Given the description of an element on the screen output the (x, y) to click on. 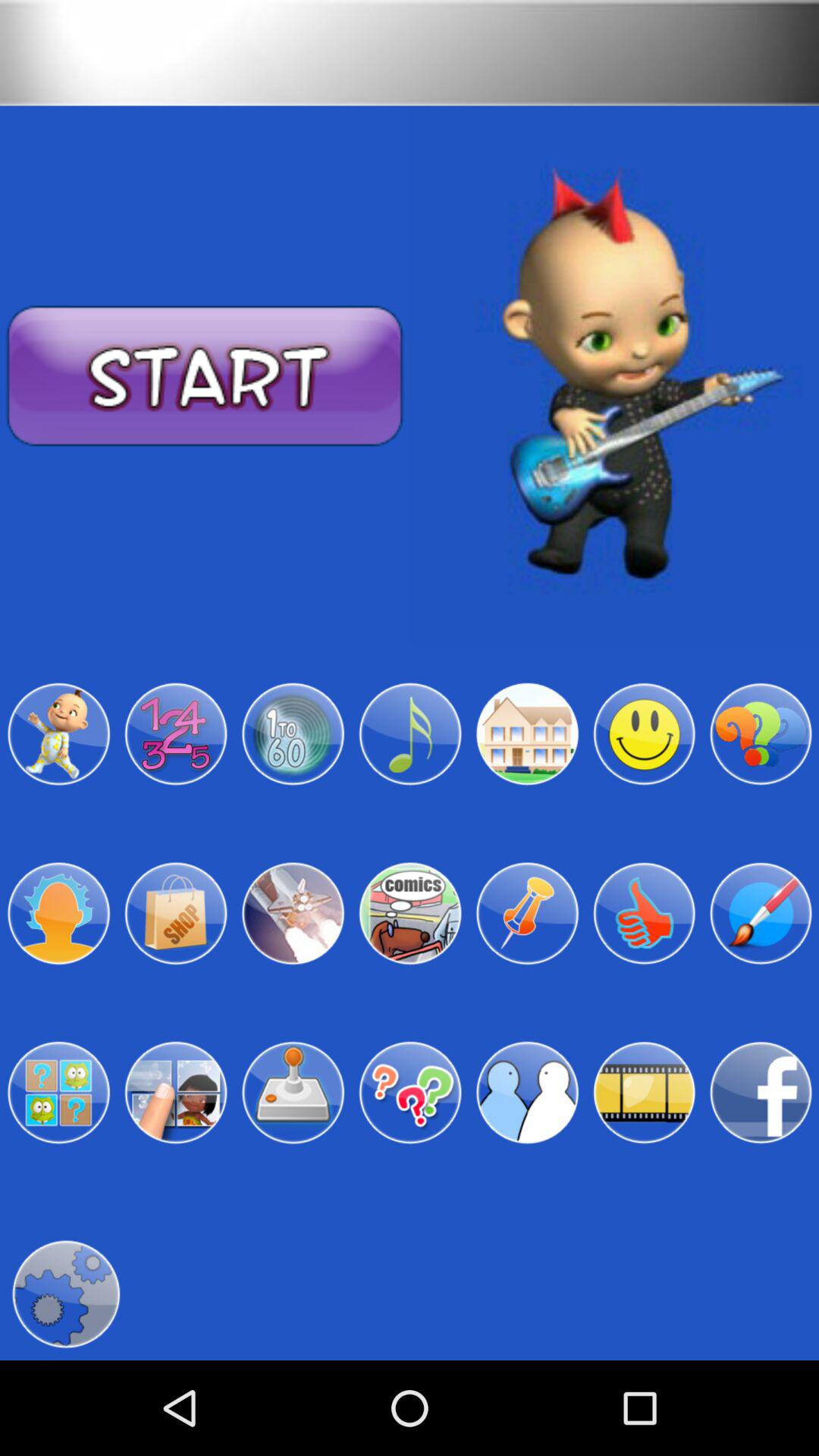
start playing (204, 375)
